Given the description of an element on the screen output the (x, y) to click on. 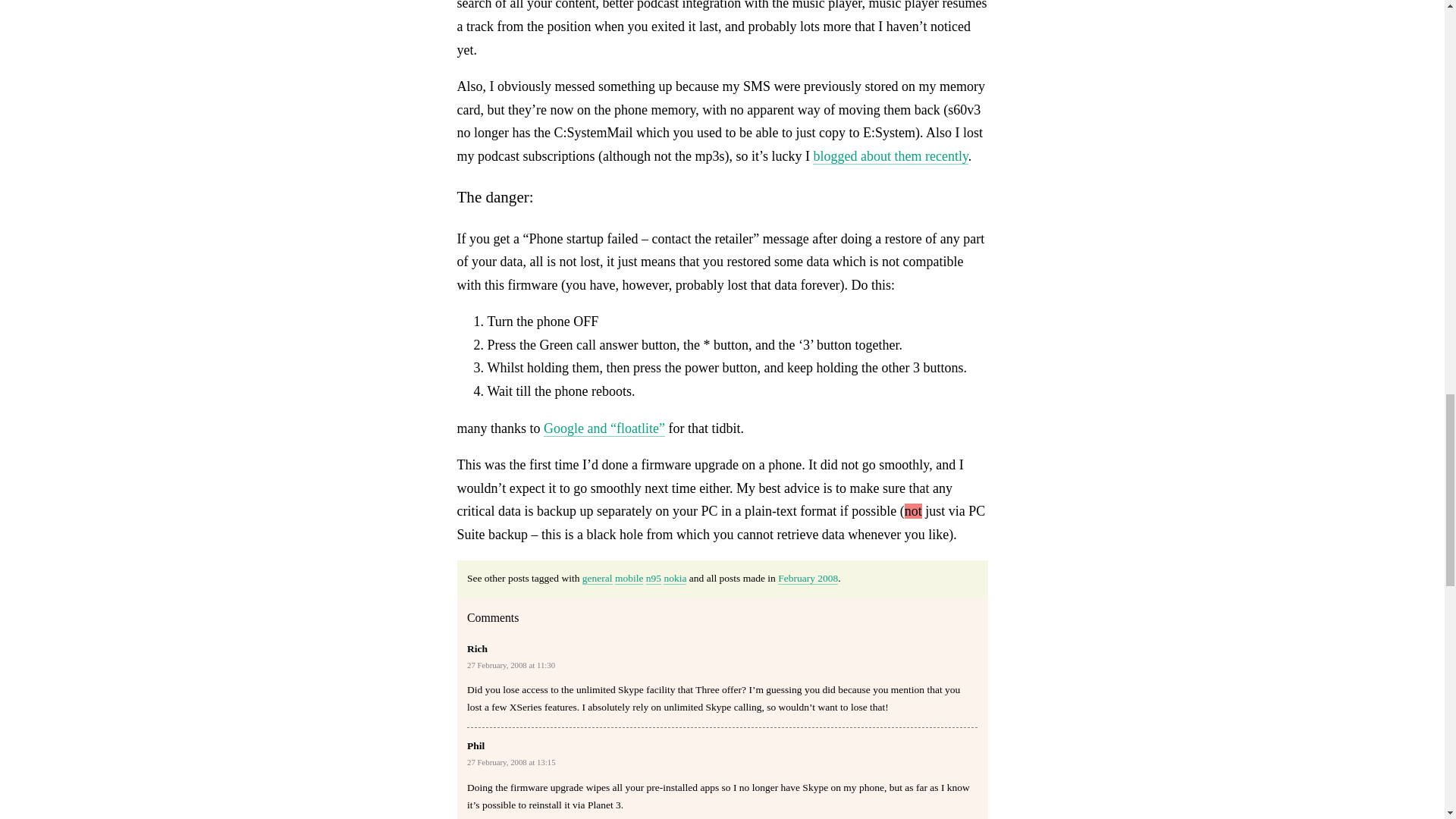
February 2008 (807, 578)
nokia (674, 578)
n95 (653, 578)
mobile (628, 578)
blogged about them recently (890, 156)
general (597, 578)
